Given the description of an element on the screen output the (x, y) to click on. 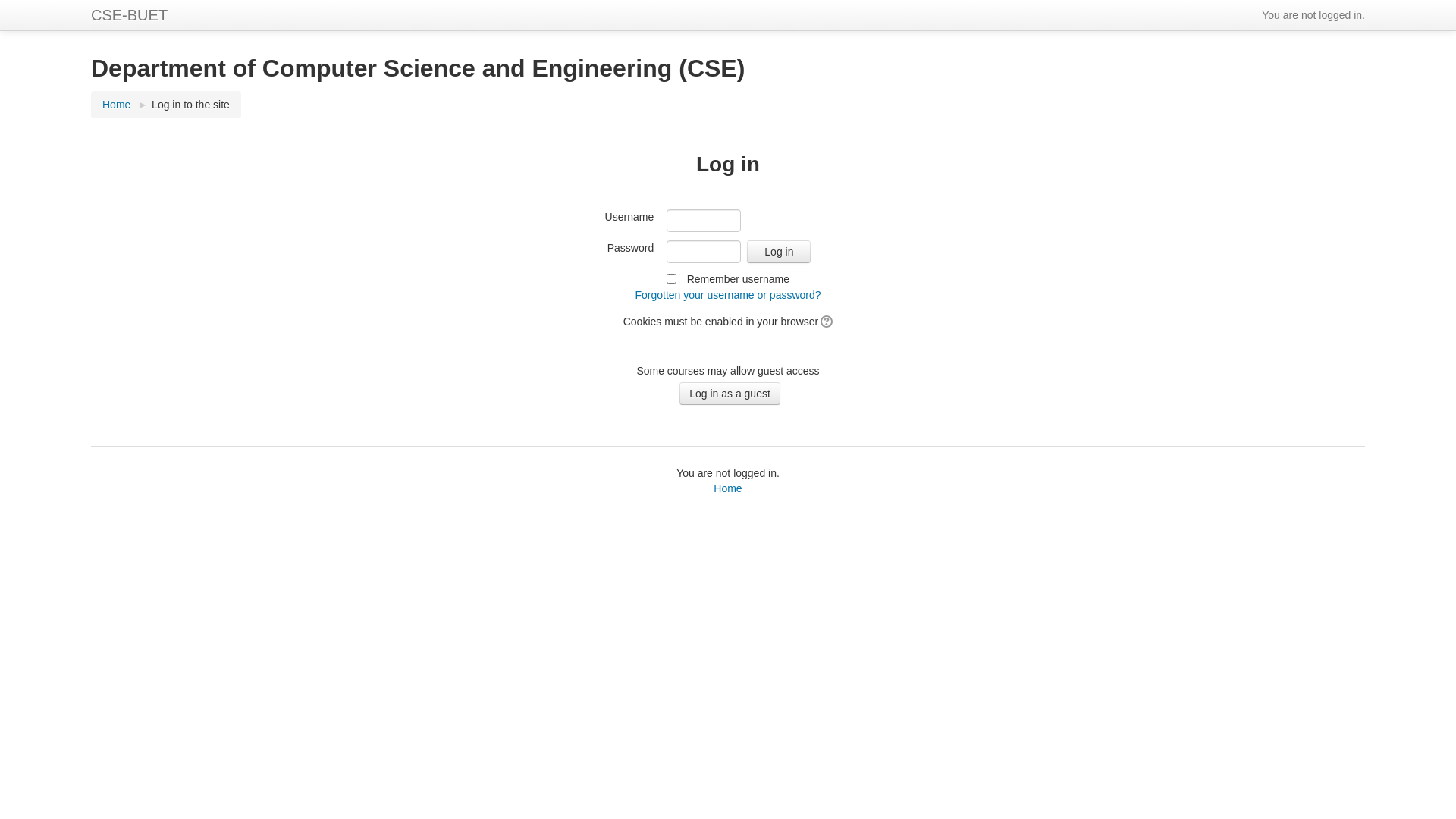
Log in Element type: text (778, 251)
Forgotten your username or password? Element type: text (727, 294)
Log in as a guest Element type: text (729, 393)
Help with Cookies must be enabled in your browser Element type: hover (825, 321)
CSE-BUET Element type: text (128, 15)
Home Element type: text (116, 104)
Home Element type: text (727, 488)
